Given the description of an element on the screen output the (x, y) to click on. 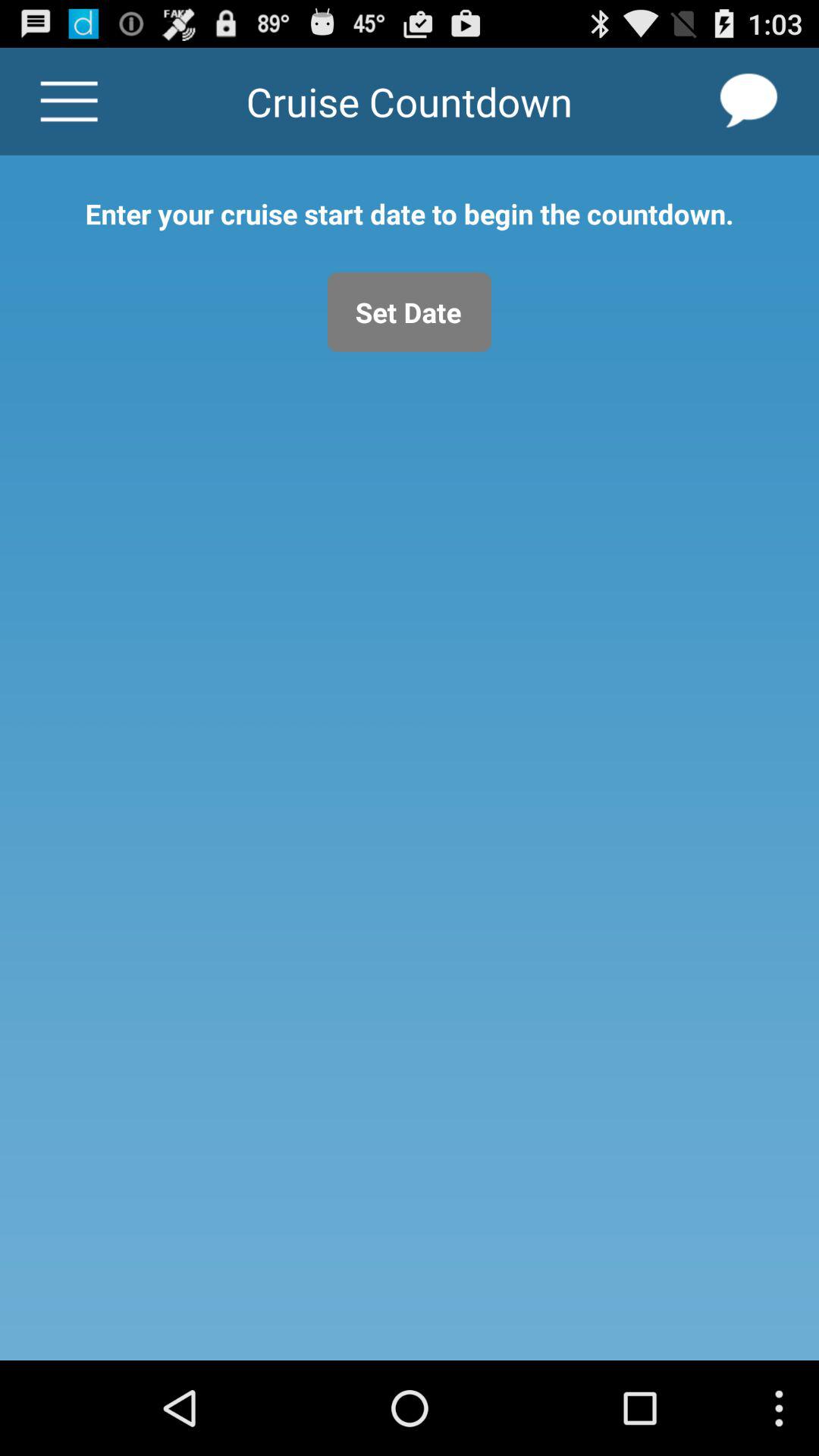
launch icon below enter your cruise (409, 312)
